Given the description of an element on the screen output the (x, y) to click on. 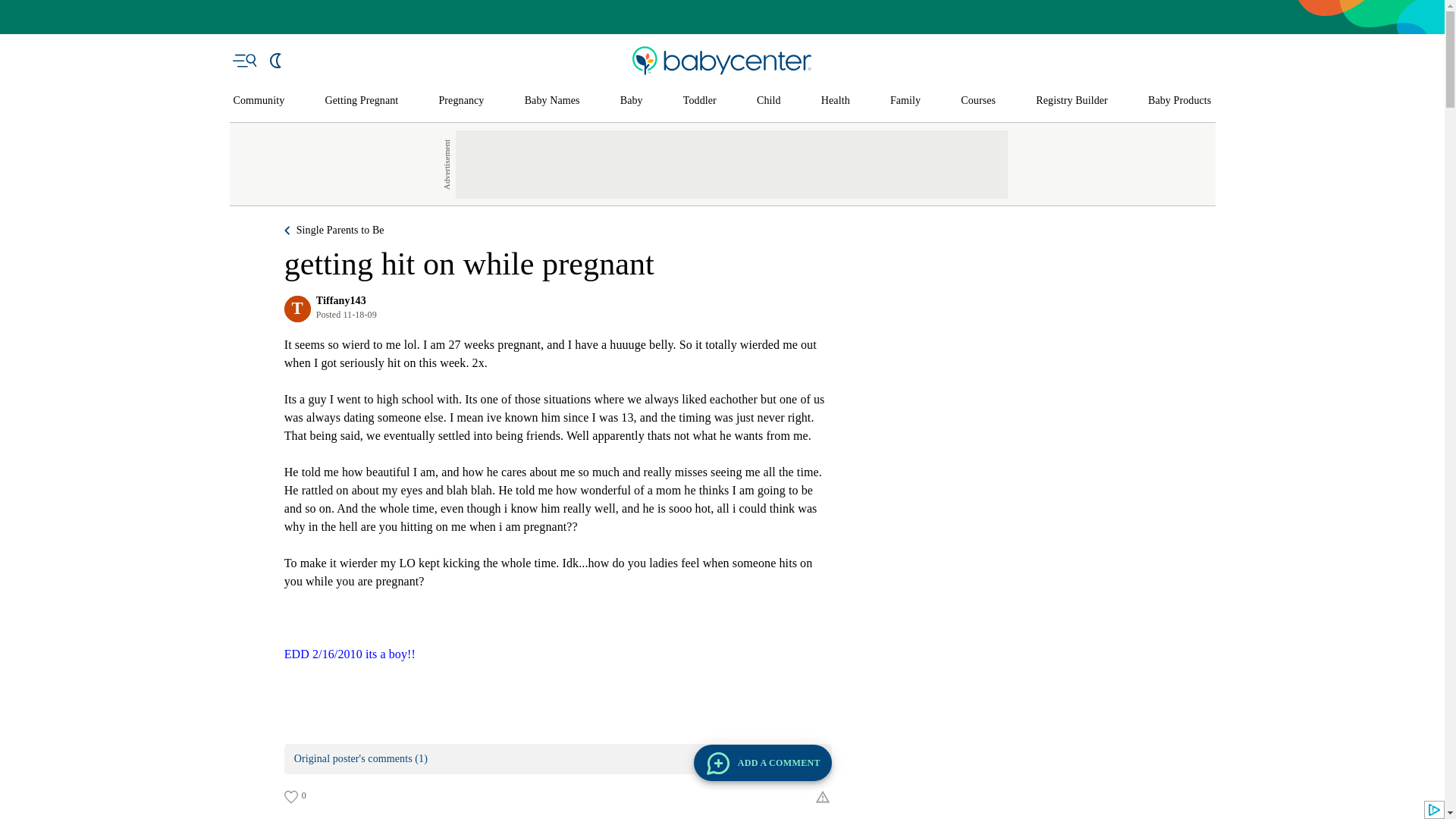
Community (258, 101)
Pregnancy (460, 101)
Baby Products (1179, 101)
Health (835, 101)
Baby (631, 101)
Baby Names (551, 101)
Registry Builder (1071, 101)
Child (768, 101)
Getting Pregnant (360, 101)
Family (904, 101)
